Given the description of an element on the screen output the (x, y) to click on. 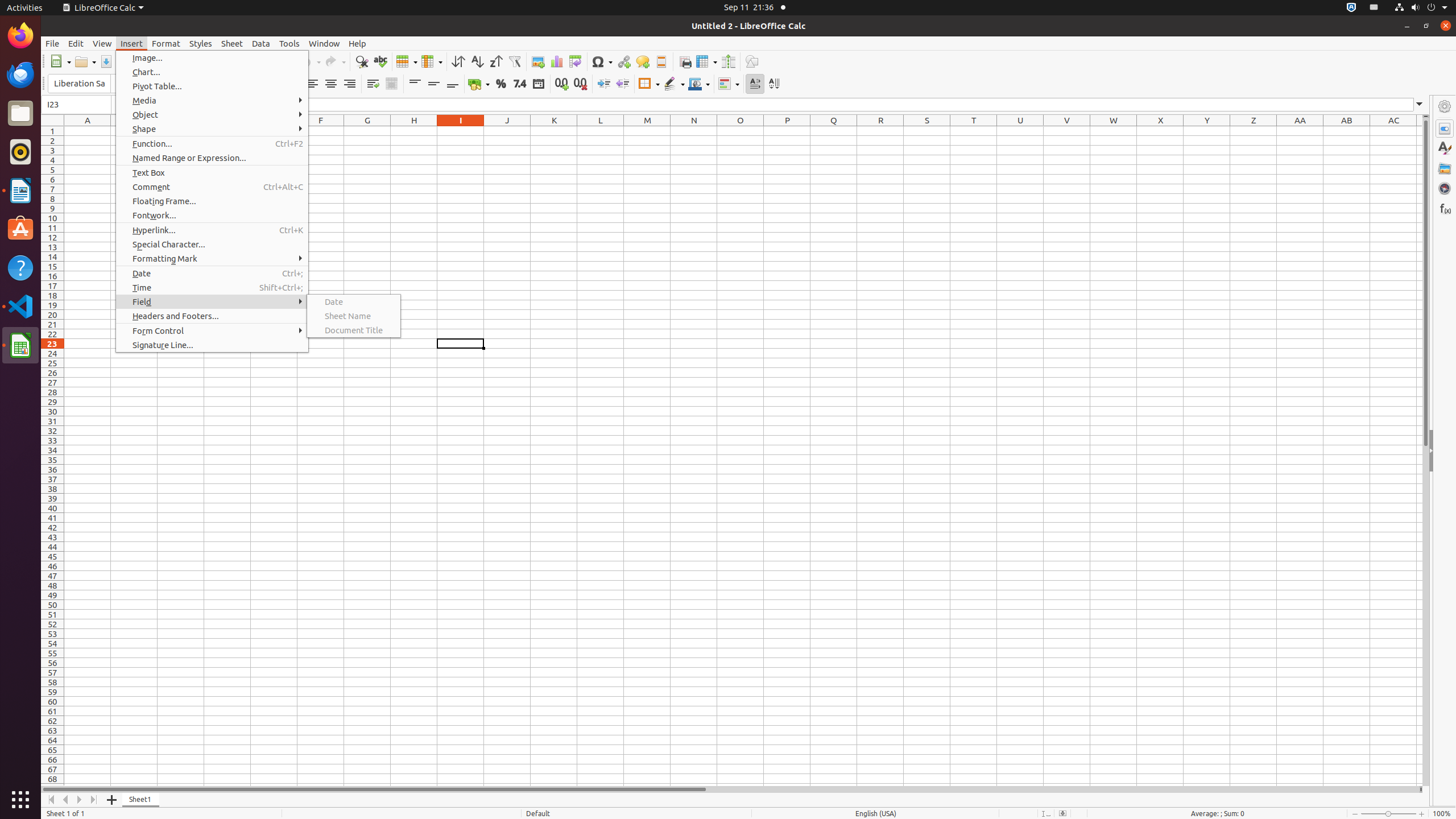
X1 Element type: table-cell (1159, 130)
P1 Element type: table-cell (786, 130)
Row Element type: push-button (406, 61)
Move To Home Element type: push-button (51, 799)
Sheet Name Element type: menu-item (353, 315)
